Given the description of an element on the screen output the (x, y) to click on. 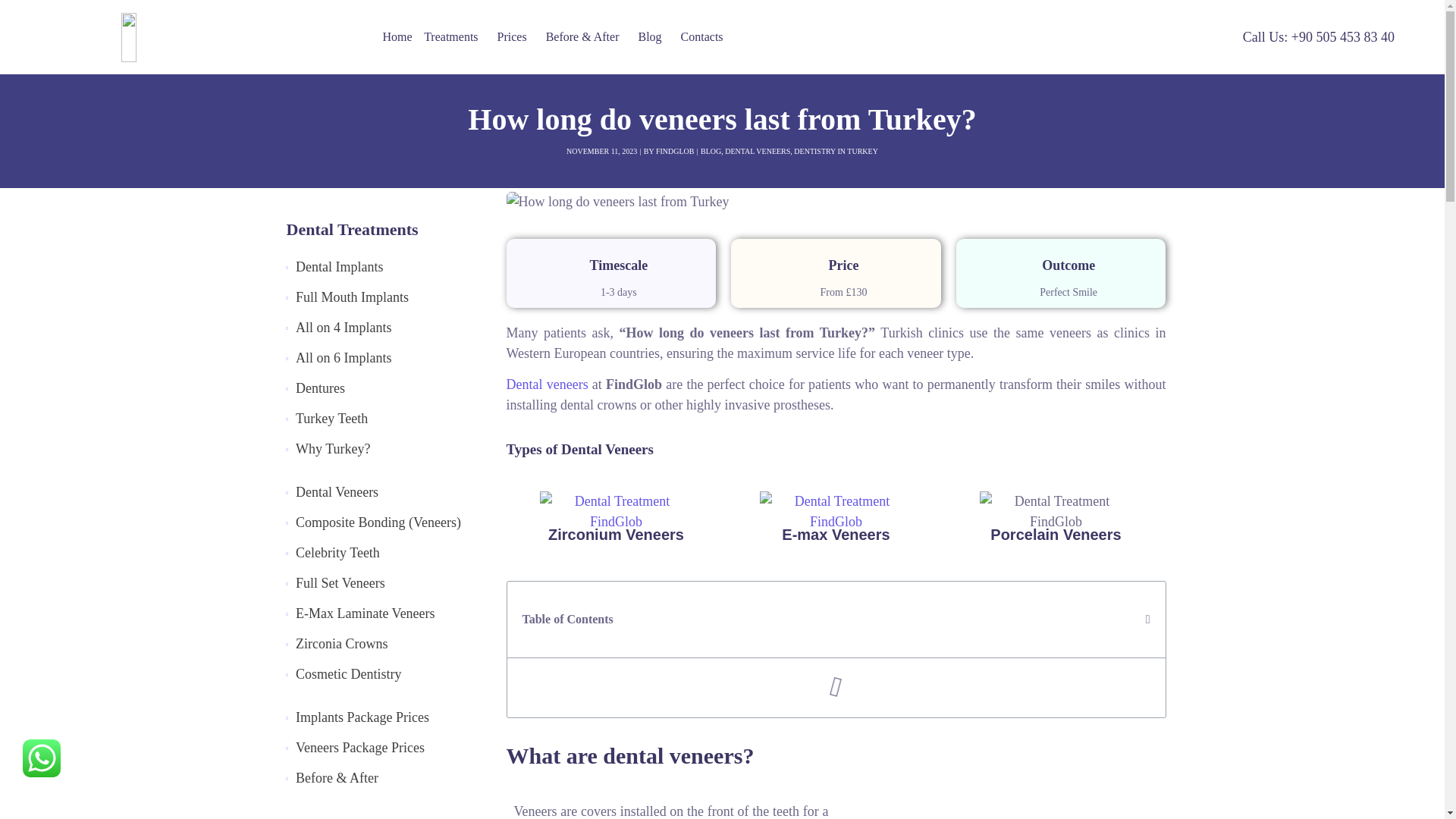
Dental Treatment FindGlob (615, 511)
Dental Treatment FindGlob (835, 511)
Treatments (453, 36)
Dental Treatment FindGlob (1055, 511)
pixeldigital-01 (209, 36)
